Given the description of an element on the screen output the (x, y) to click on. 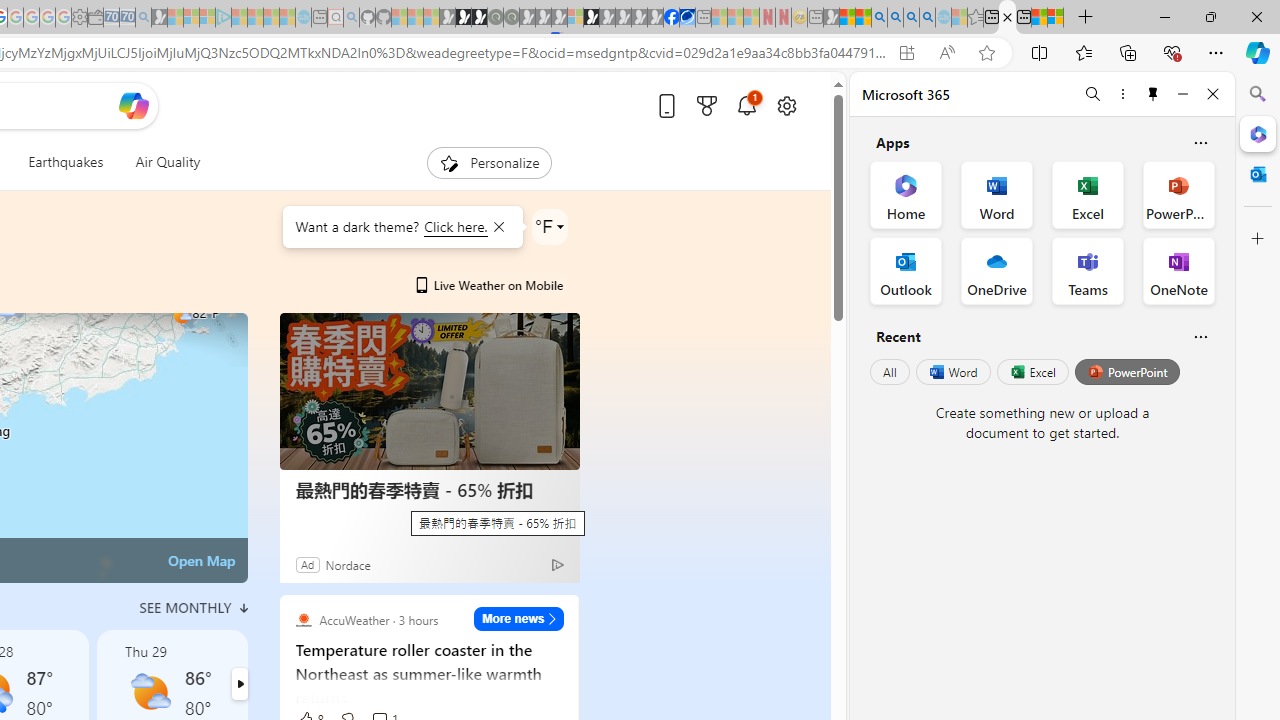
Class: BubbleMessageCloseIcon-DS-EntryPoint1-1 (497, 227)
AirNow.gov (687, 17)
Partly sunny (150, 692)
